Given the description of an element on the screen output the (x, y) to click on. 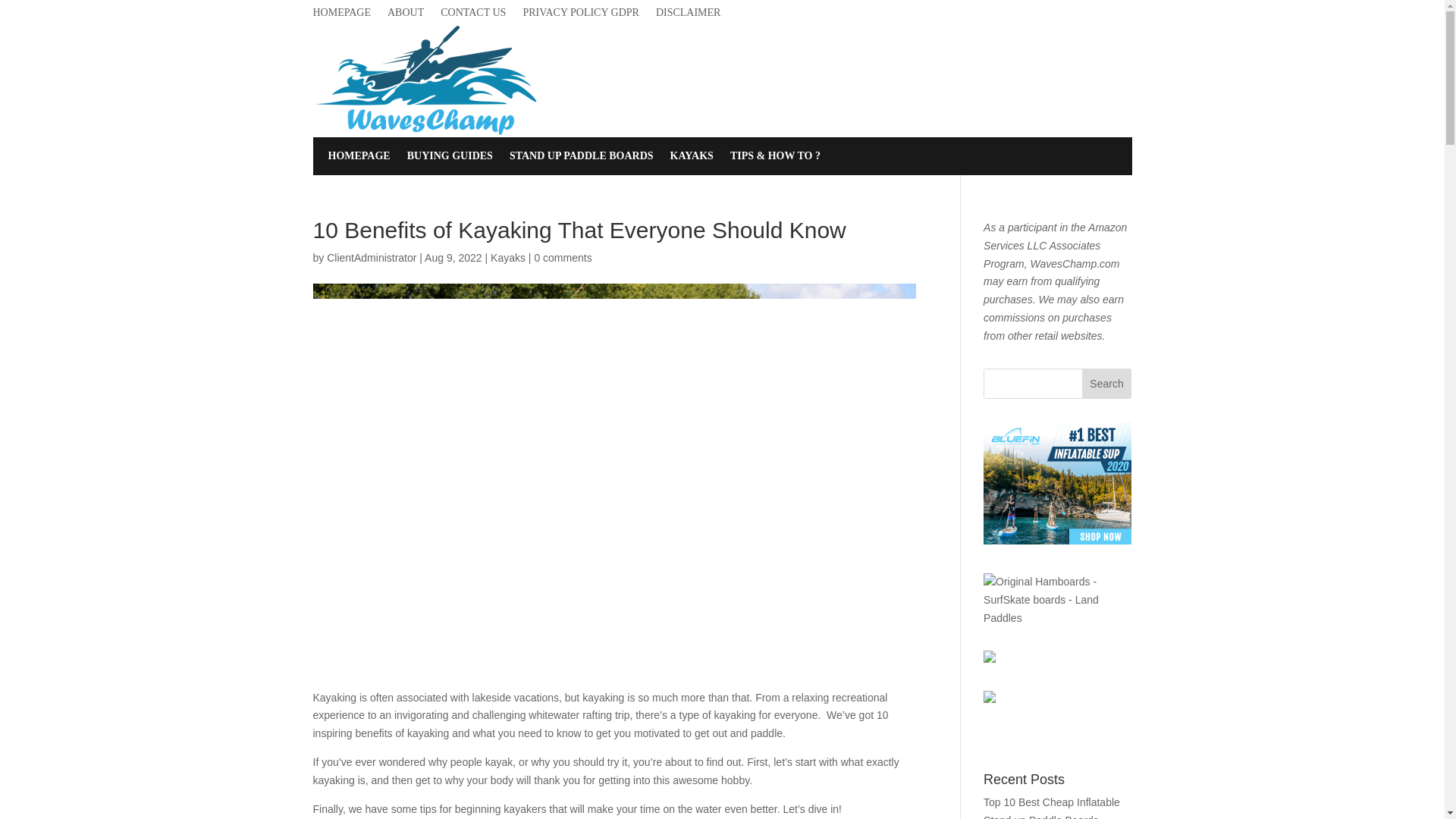
Kayaks (507, 257)
HOMEPAGE (342, 15)
HOMEPAGE (358, 158)
STAND UP PADDLE BOARDS (581, 158)
PRIVACY POLICY GDPR (580, 15)
CONTACT US (473, 15)
Search (1106, 383)
0 comments (562, 257)
Top 10 Best Cheap Inflatable Stand up Paddle Boards (1051, 807)
DISCLAIMER (688, 15)
waveschamp-logo2 (426, 81)
KAYAKS (691, 158)
ClientAdministrator (371, 257)
BUYING GUIDES (450, 158)
Search (1106, 383)
